Given the description of an element on the screen output the (x, y) to click on. 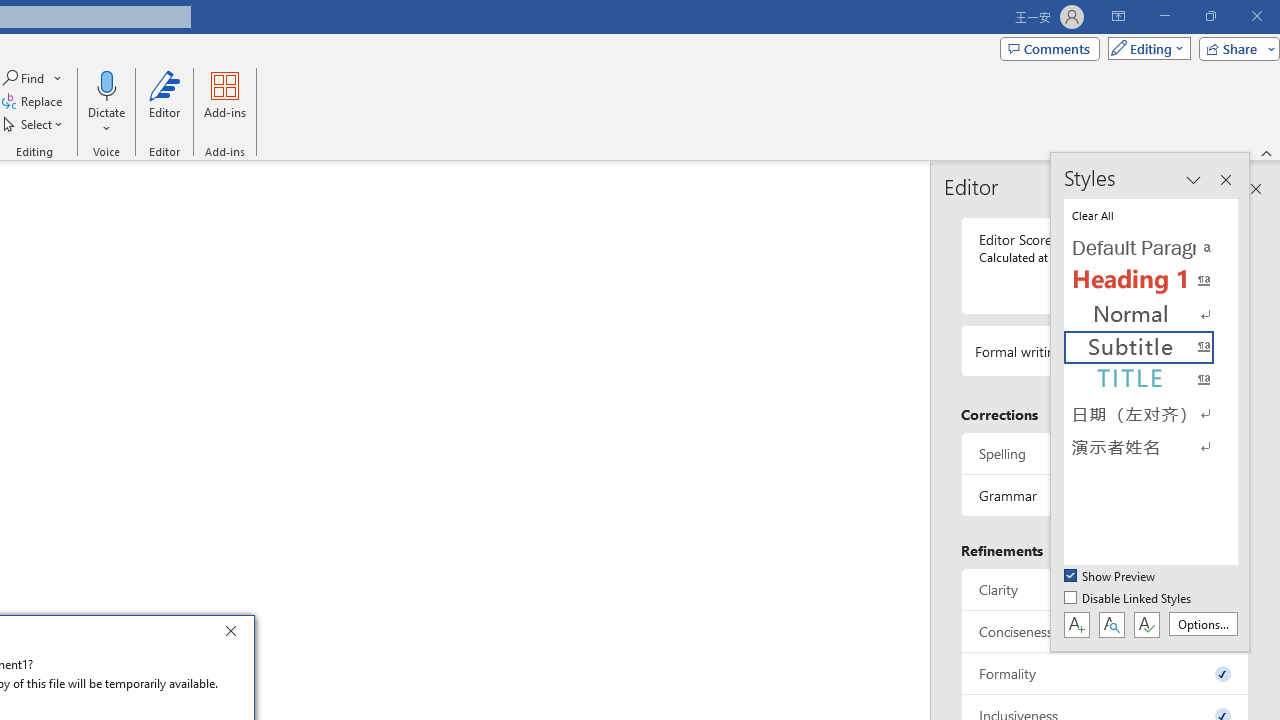
Class: NetUIButton (1146, 624)
Options... (1202, 623)
Spelling, 0 issues. Press space or enter to review items. (1105, 452)
